Given the description of an element on the screen output the (x, y) to click on. 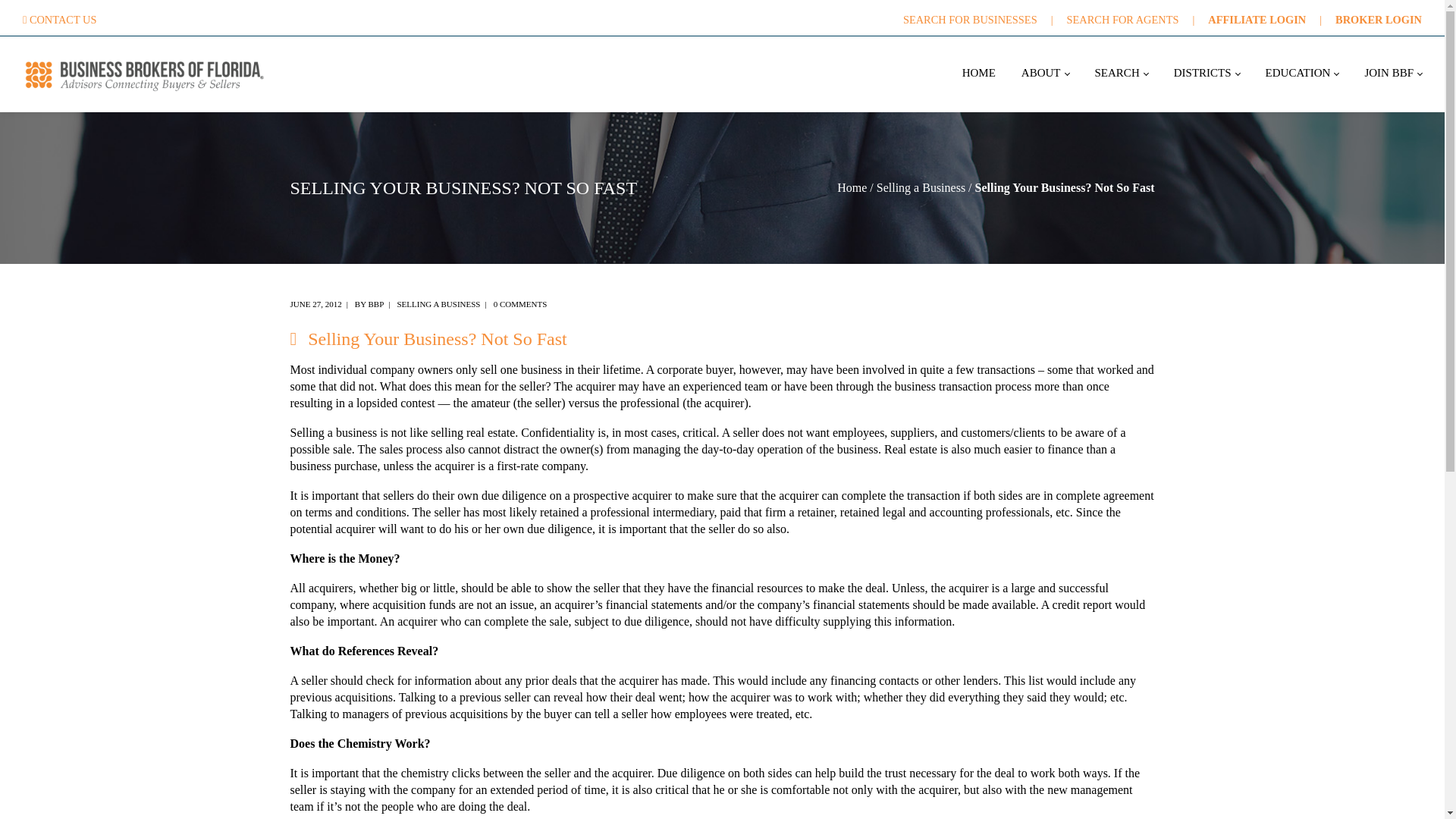
CONTACT US (63, 19)
SEARCH (1121, 74)
DISTRICTS (1206, 74)
EDUCATION (1302, 74)
BROKER LOGIN (1378, 19)
AFFILIATE LOGIN (1257, 19)
SEARCH FOR AGENTS (1123, 19)
JOIN BBF (1393, 74)
SEARCH FOR BUSINESSES (969, 19)
